Given the description of an element on the screen output the (x, y) to click on. 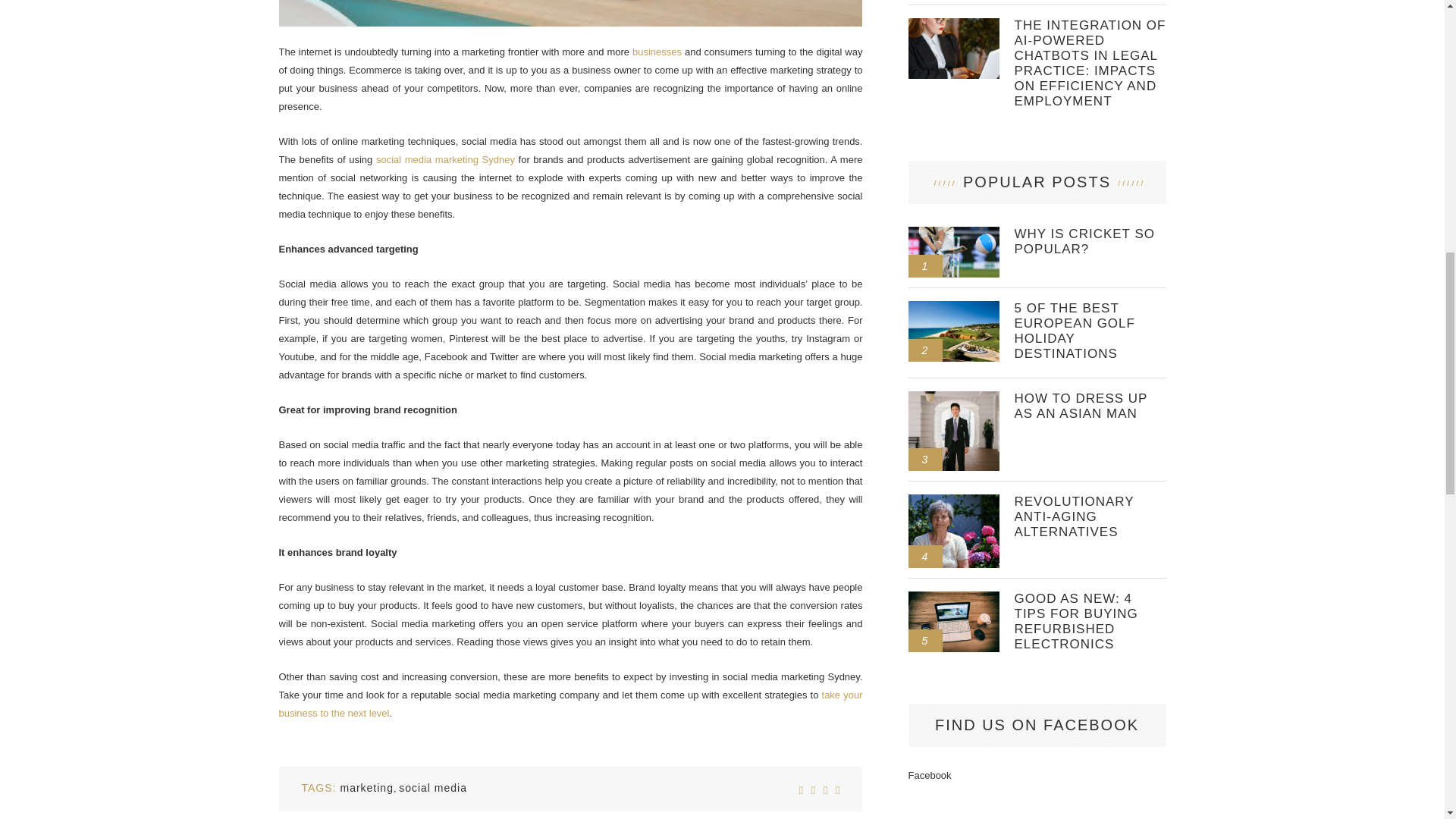
Why is cricket so popular? (1090, 241)
5 of the Best European Golf Holiday Destinations (953, 306)
How to dress up as an Asian man (953, 397)
5 of the Best European Golf Holiday Destinations (1090, 331)
Why is cricket so popular? (953, 232)
